Given the description of an element on the screen output the (x, y) to click on. 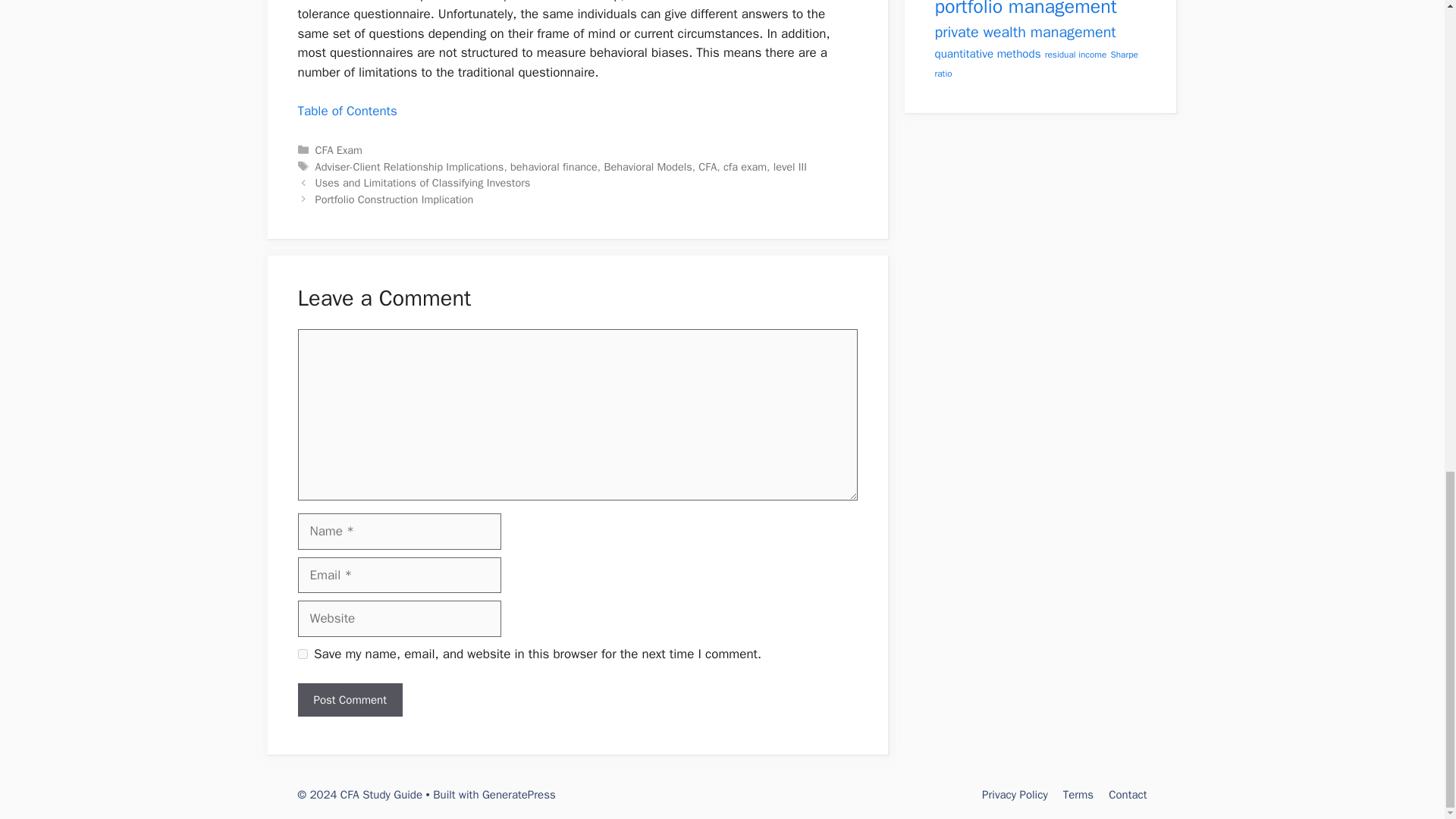
Post Comment (349, 700)
CFA Exam (338, 150)
cfa exam (745, 166)
Behavioral Models (647, 166)
yes (302, 654)
Adviser-Client Relationship Implications (409, 166)
Portfolio Construction Implication (394, 199)
behavioral finance (553, 166)
Table of Contents (346, 110)
level III (789, 166)
